Given the description of an element on the screen output the (x, y) to click on. 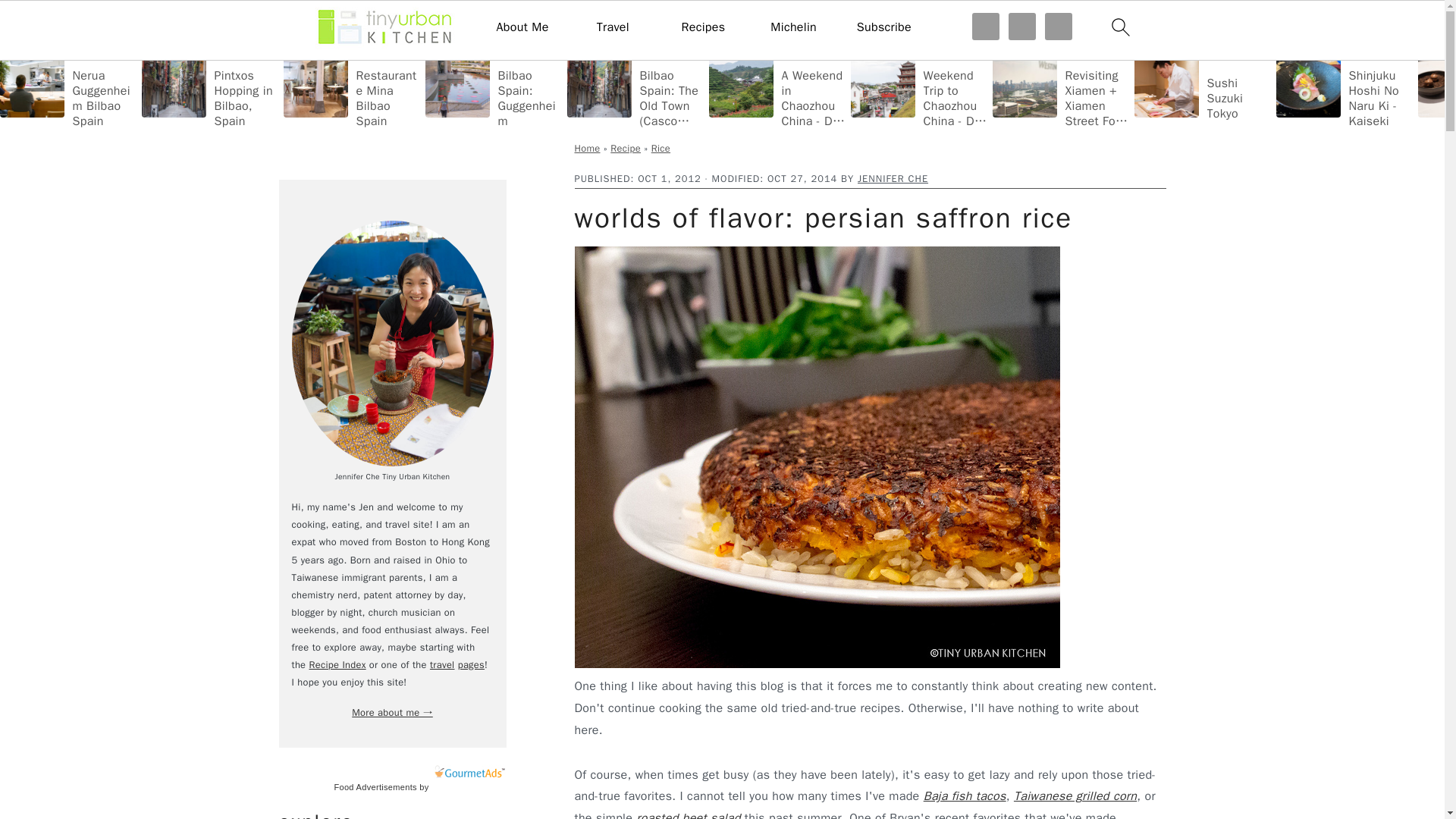
Subscribe (884, 27)
search icon (1119, 26)
Recipes (703, 27)
Food Advertisements (374, 786)
Michelin (793, 27)
Travel (612, 27)
Persian Saffron Rice "Cake" by tinyurbankitchen, on Flickr (817, 663)
About Me (522, 27)
